Given the description of an element on the screen output the (x, y) to click on. 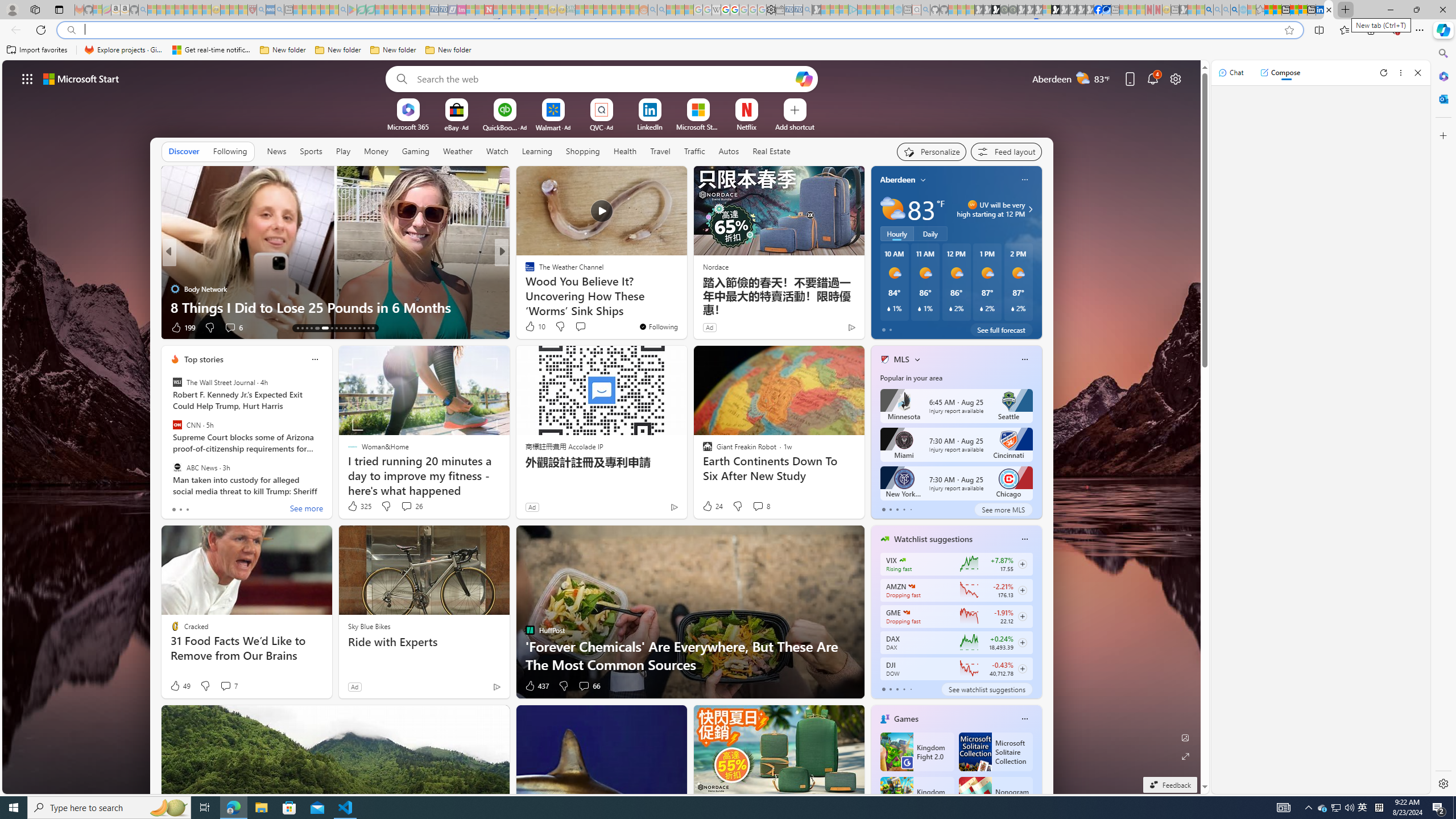
Real Estate (771, 151)
